Given the description of an element on the screen output the (x, y) to click on. 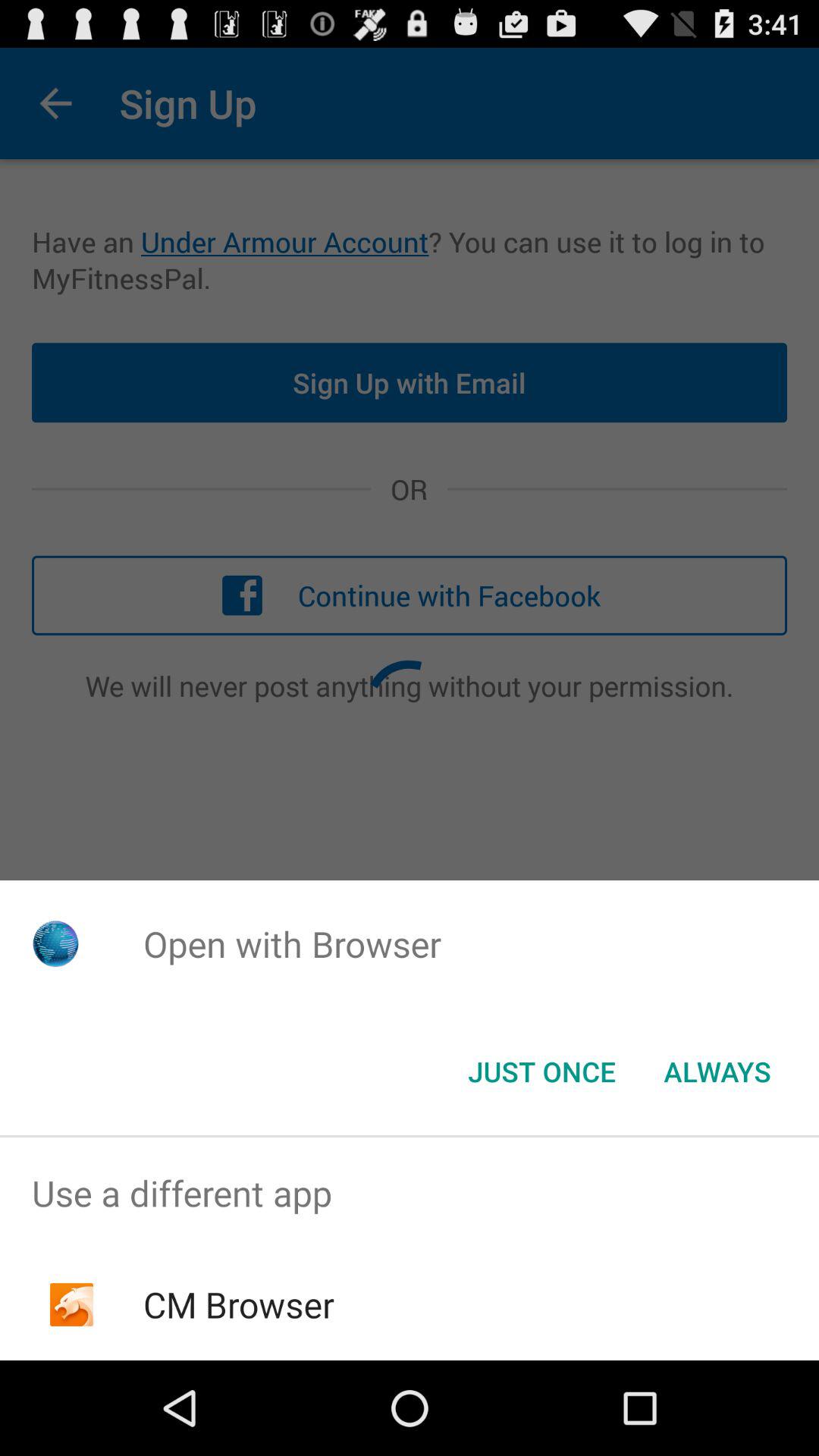
turn on icon next to the always item (541, 1071)
